Given the description of an element on the screen output the (x, y) to click on. 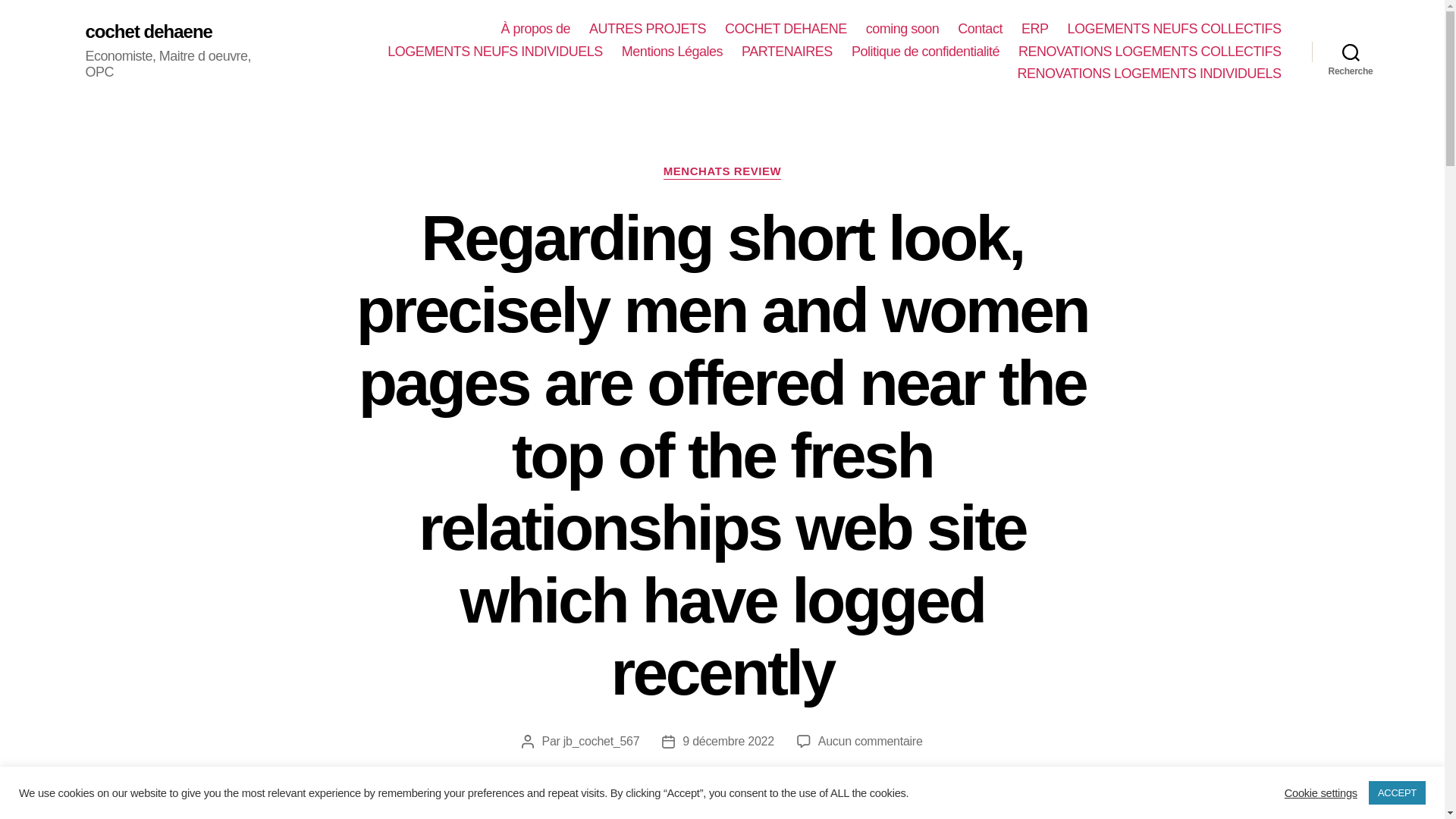
LOGEMENTS NEUFS INDIVIDUELS (494, 52)
PARTENAIRES (786, 52)
AUTRES PROJETS (647, 29)
Recherche (1350, 51)
RENOVATIONS LOGEMENTS INDIVIDUELS (1149, 74)
coming soon (902, 29)
LOGEMENTS NEUFS COLLECTIFS (1174, 29)
ERP (1035, 29)
cochet dehaene (147, 31)
Aucun commentaire (870, 740)
MENCHATS REVIEW (721, 171)
Contact (980, 29)
RENOVATIONS LOGEMENTS COLLECTIFS (1149, 52)
COCHET DEHAENE (786, 29)
